Given the description of an element on the screen output the (x, y) to click on. 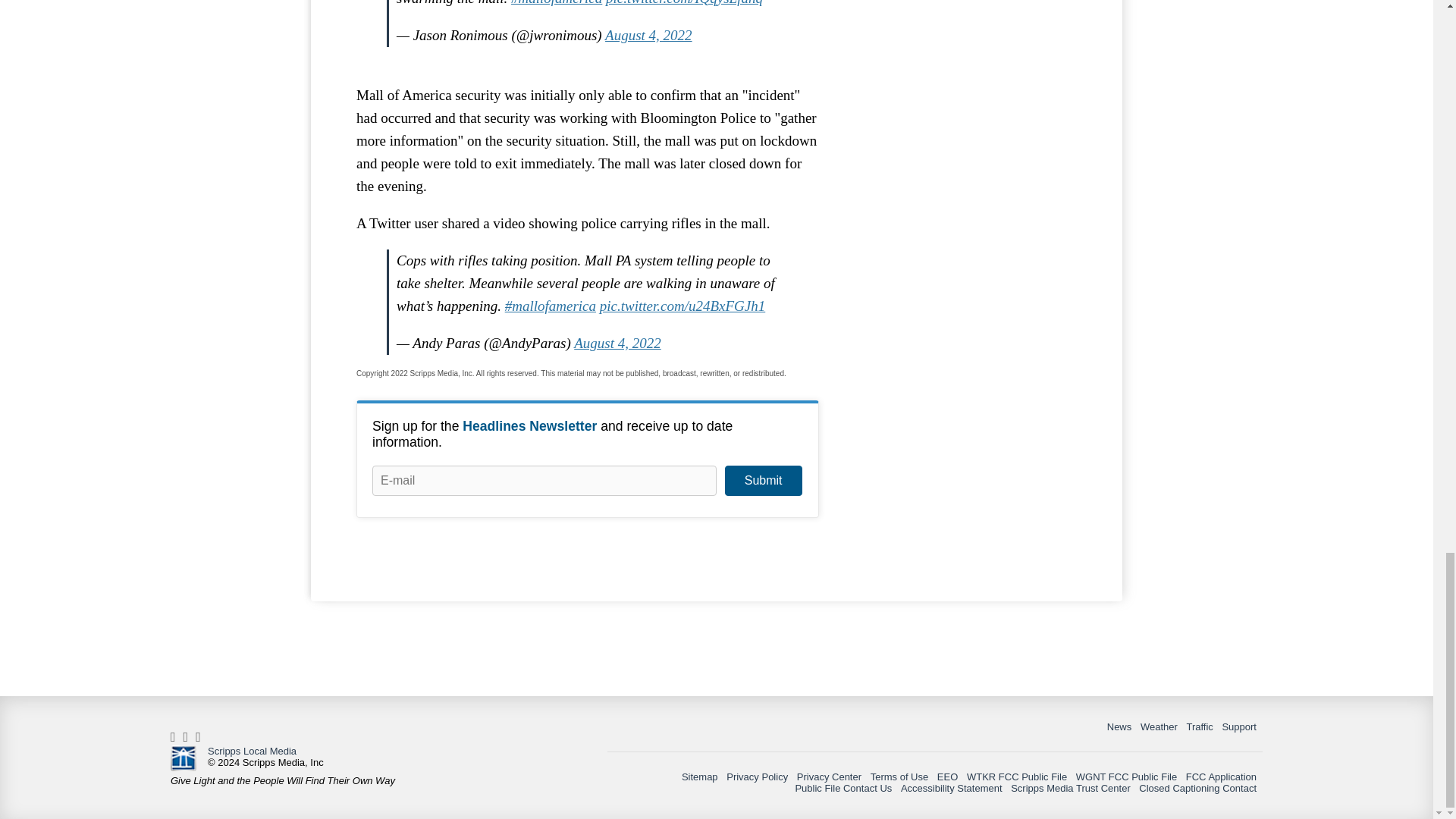
Submit (763, 481)
